Given the description of an element on the screen output the (x, y) to click on. 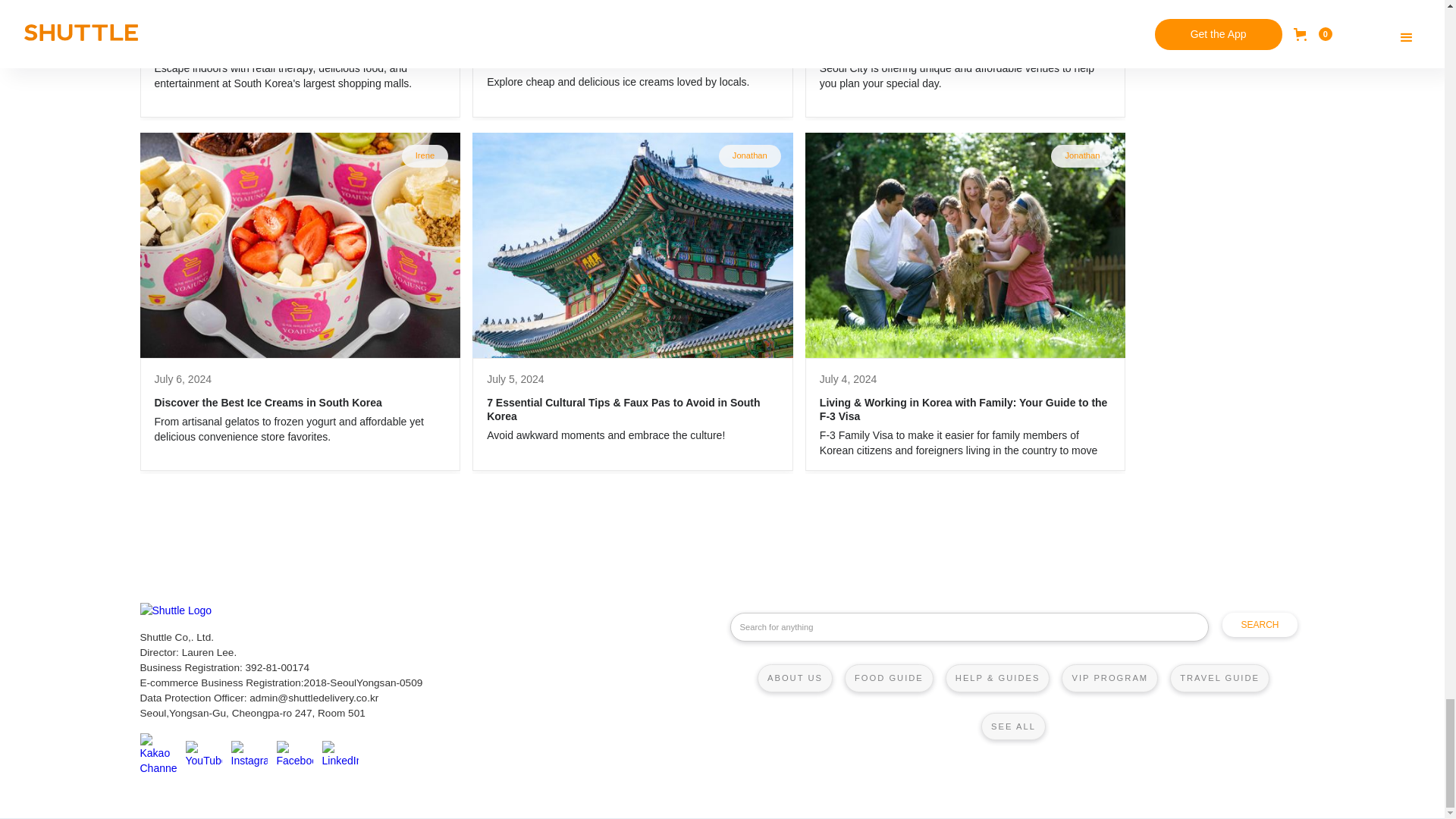
VIP PROGRAM (1109, 677)
ABOUT US (794, 677)
Search (1260, 624)
Search (1260, 624)
FOOD GUIDE (888, 677)
Search (1260, 624)
